Given the description of an element on the screen output the (x, y) to click on. 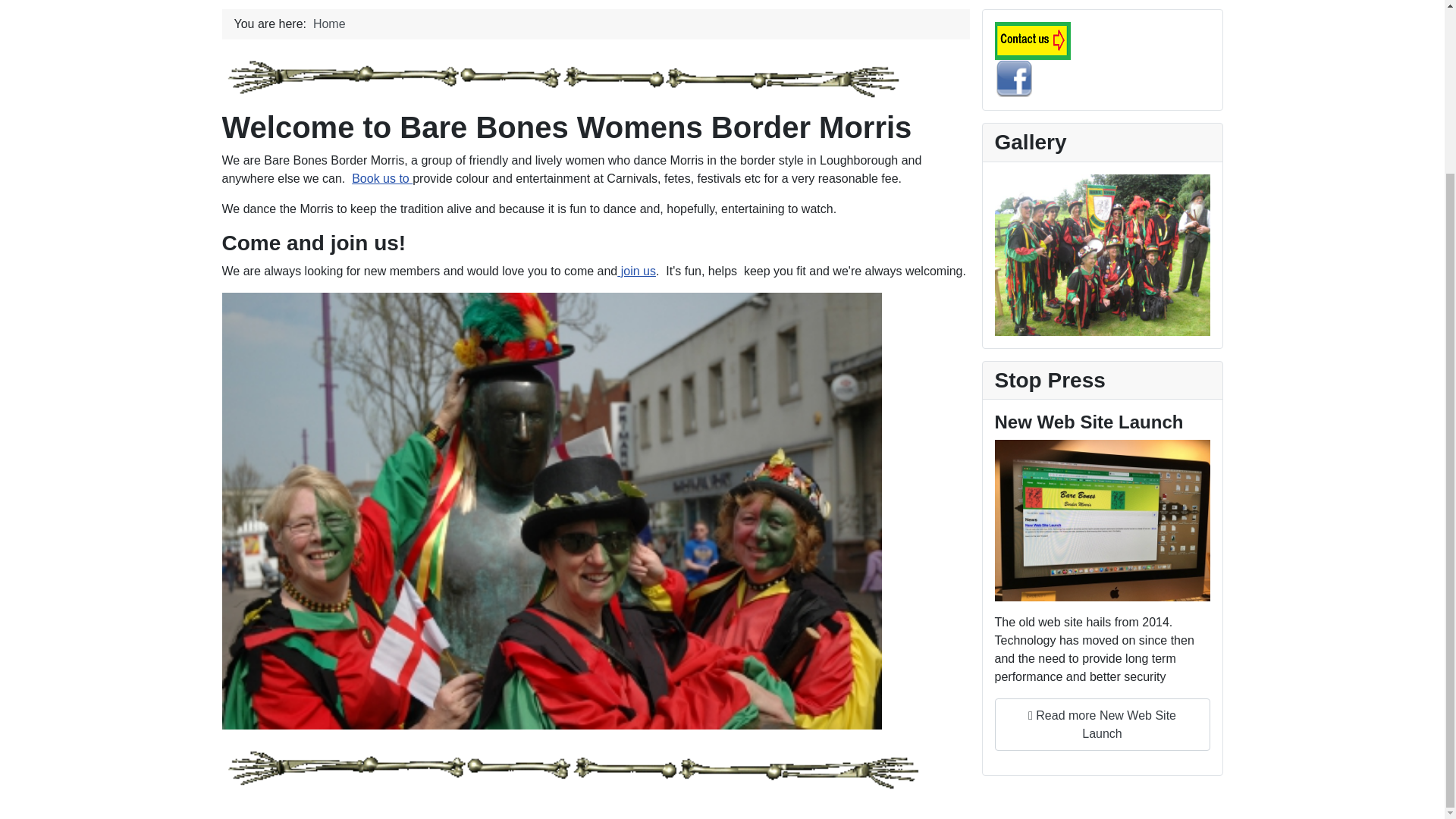
Facebook (1013, 77)
Contact us (1032, 39)
Book us to (382, 178)
join us (636, 270)
Read more New Web Site Launch (1101, 724)
